Given the description of an element on the screen output the (x, y) to click on. 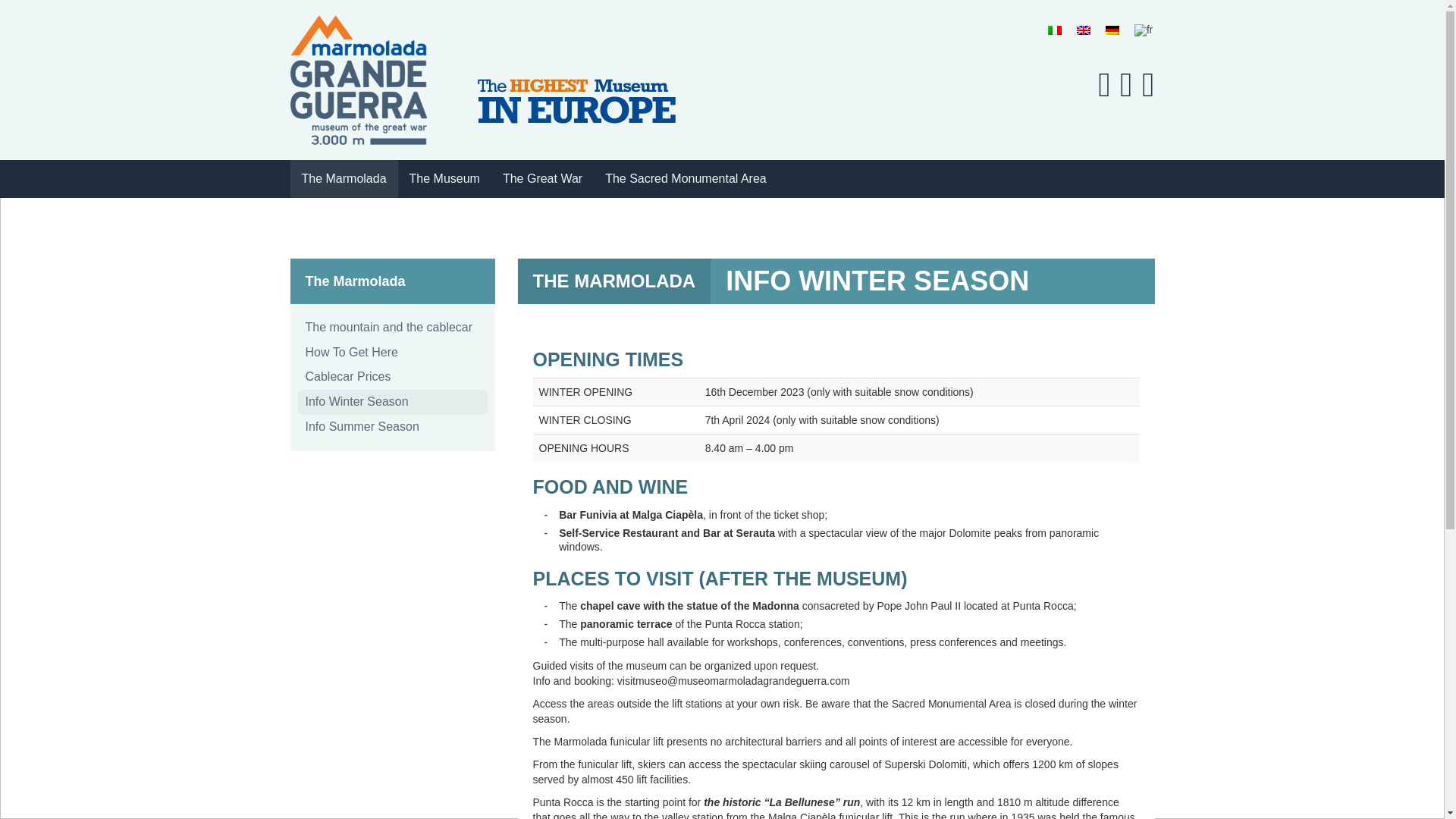
Info Winter Season (391, 401)
Deutsch (1112, 30)
The mountain and the cablecar (391, 327)
Cablecar Prices (391, 376)
How To Get Here (391, 352)
The Marmolada (343, 178)
The Museum (444, 178)
Skip to content (329, 168)
The Great War (543, 178)
The Sacred Monumental Area (685, 178)
Info Summer Season (391, 426)
English (1083, 30)
Italiano (1054, 30)
